Given the description of an element on the screen output the (x, y) to click on. 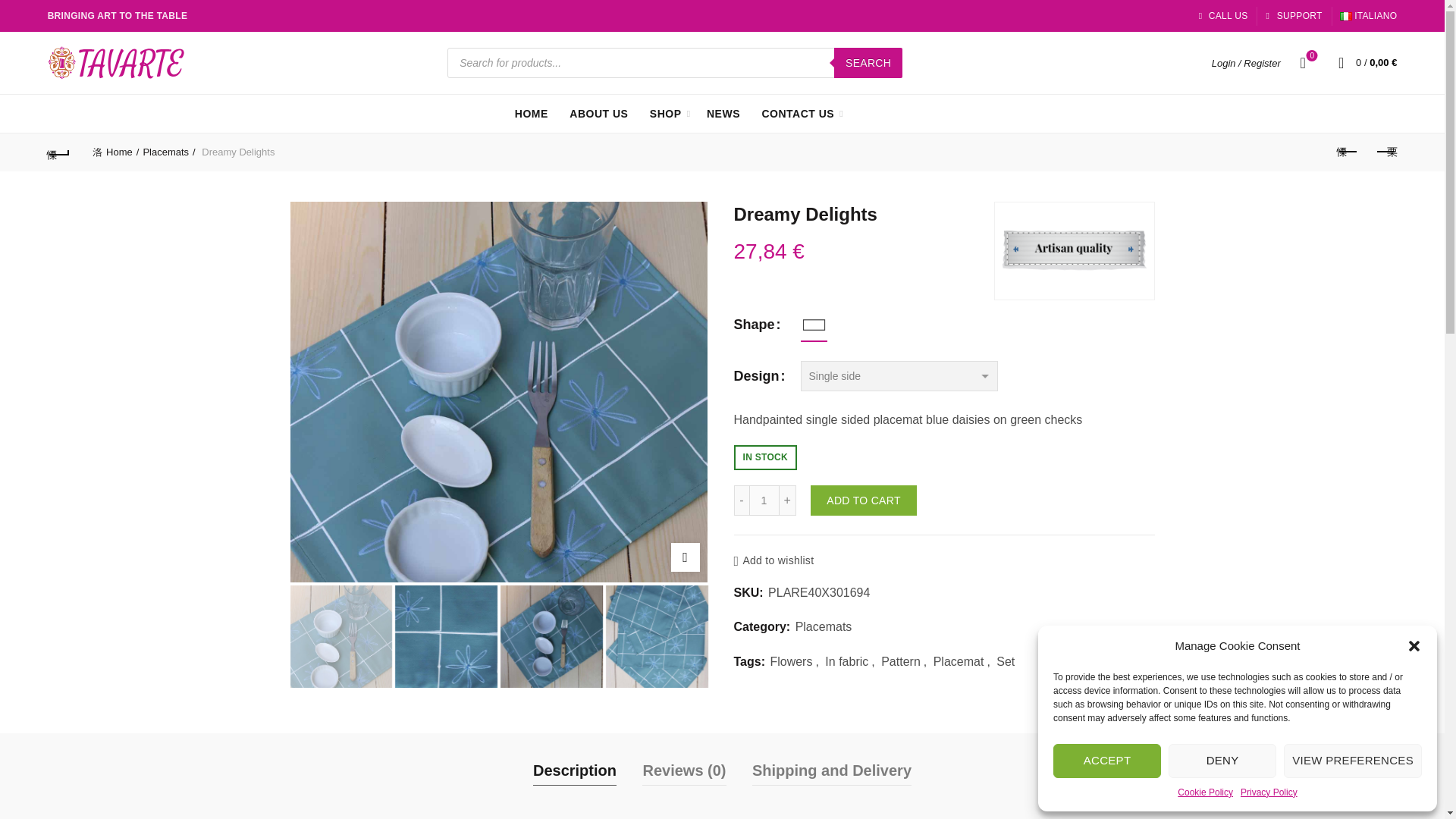
Privacy Policy (1268, 792)
Cookie Policy (1205, 792)
ACCEPT (1106, 760)
VIEW PREFERENCES (1353, 760)
DENY (1222, 760)
1 (763, 500)
